Given the description of an element on the screen output the (x, y) to click on. 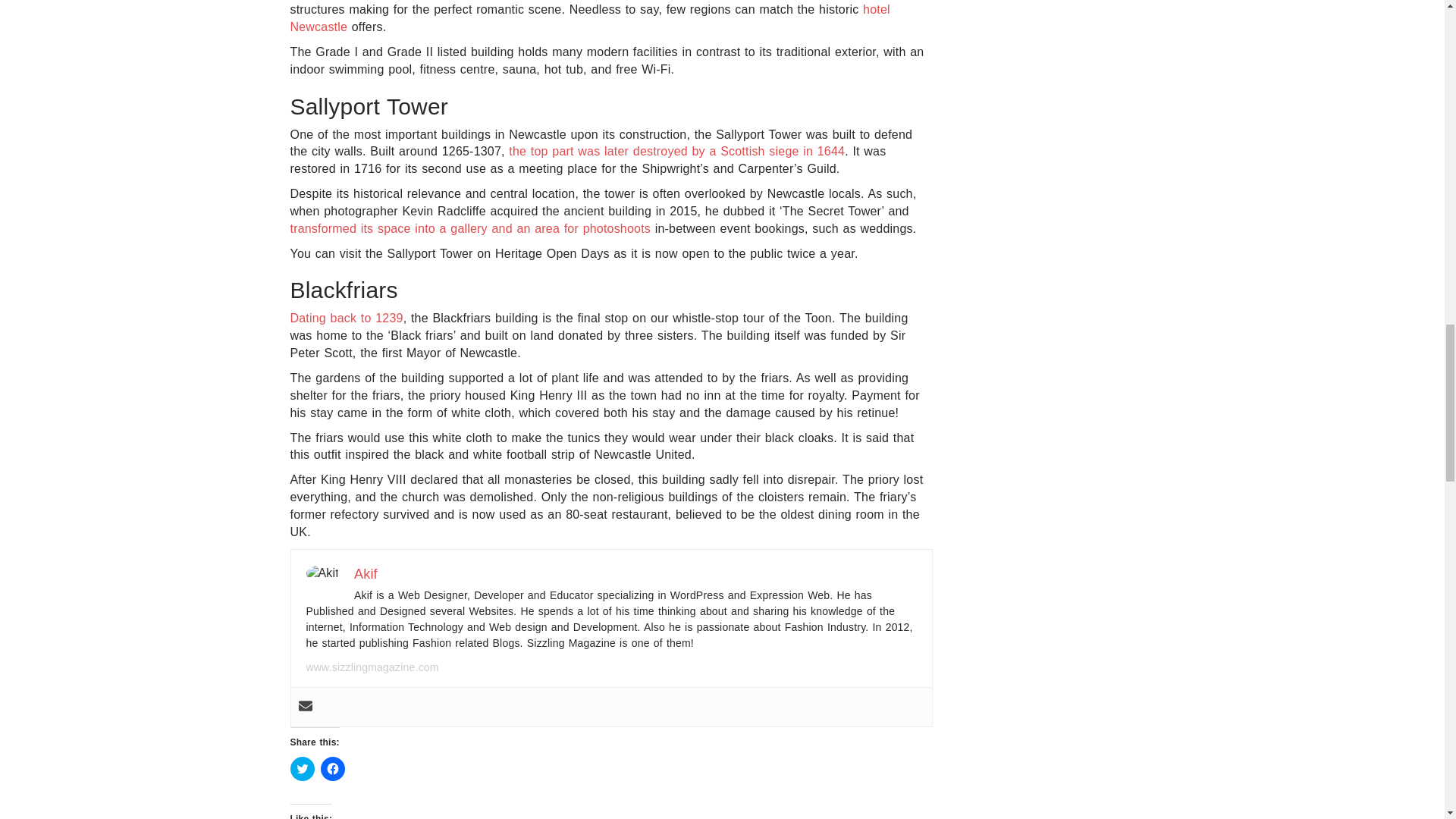
Click to share on Facebook (331, 768)
Click to share on Twitter (301, 768)
